Given the description of an element on the screen output the (x, y) to click on. 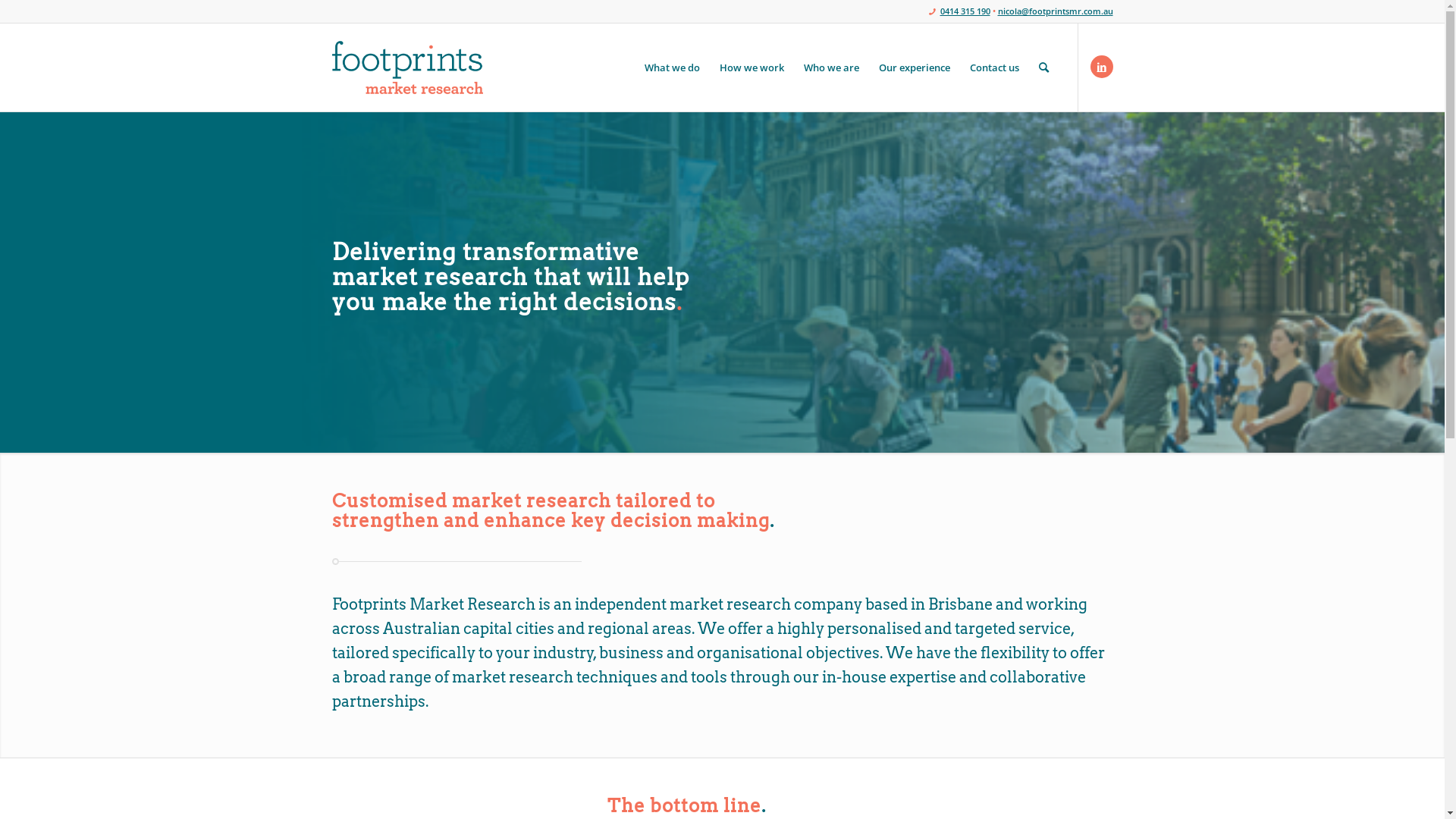
nicola@footprintsmr.com.au Element type: text (1055, 10)
Contact us Element type: text (994, 67)
LinkedIn Element type: hover (1101, 66)
FMR_LOGO_COLOUR_WEBSITE Element type: hover (407, 67)
0414 315 190 Element type: text (965, 10)
How we work Element type: text (751, 67)
Our experience Element type: text (914, 67)
Who we are Element type: text (830, 67)
What we do Element type: text (671, 67)
